Given the description of an element on the screen output the (x, y) to click on. 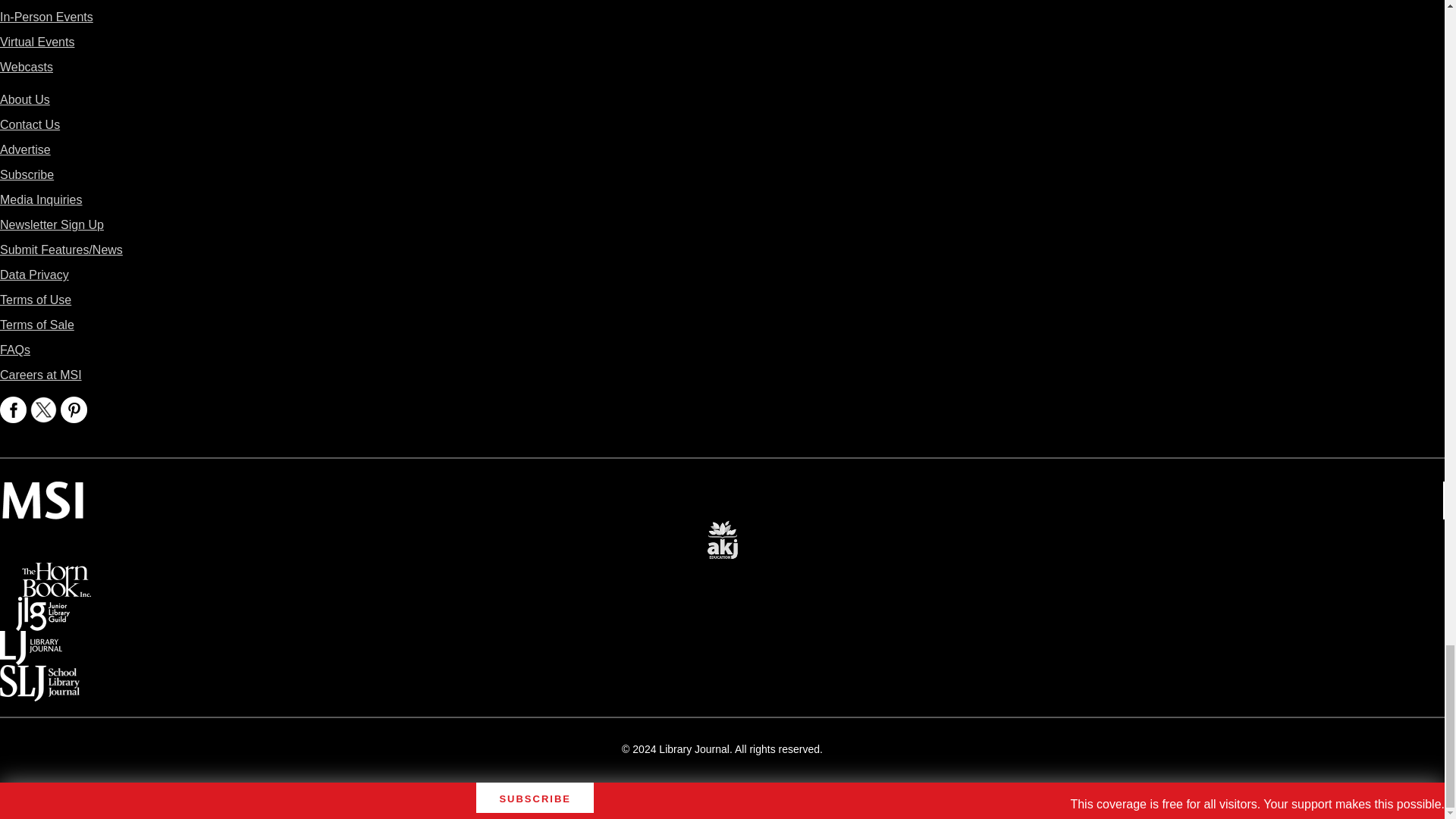
Media Source Incorporated (42, 491)
AKJ (722, 529)
Junior Library Guild (42, 607)
School Library Journal (40, 675)
The Horn Book (56, 572)
